Given the description of an element on the screen output the (x, y) to click on. 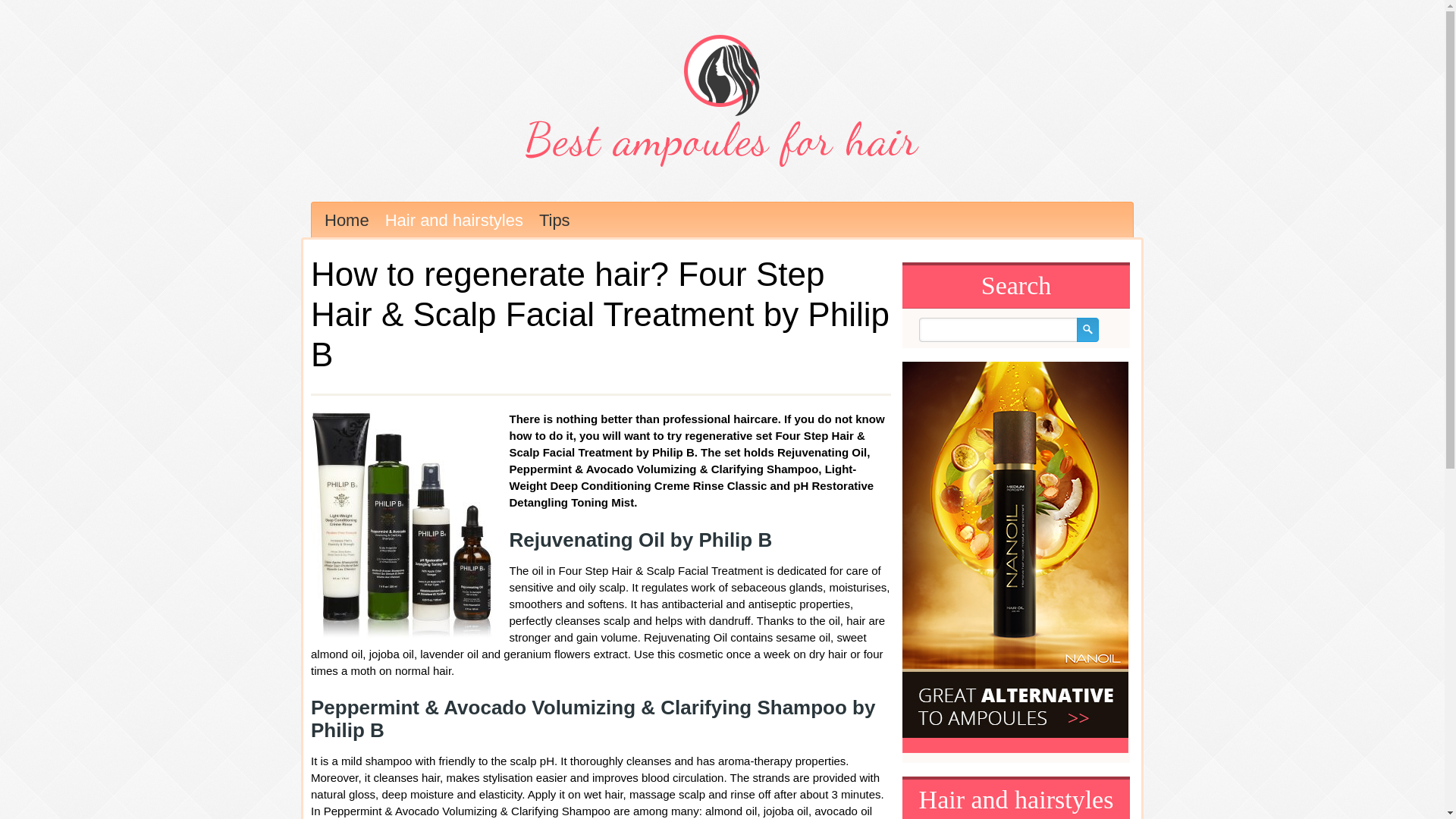
Tips (553, 220)
Hair and hairstyles (452, 220)
Home (345, 220)
